Given the description of an element on the screen output the (x, y) to click on. 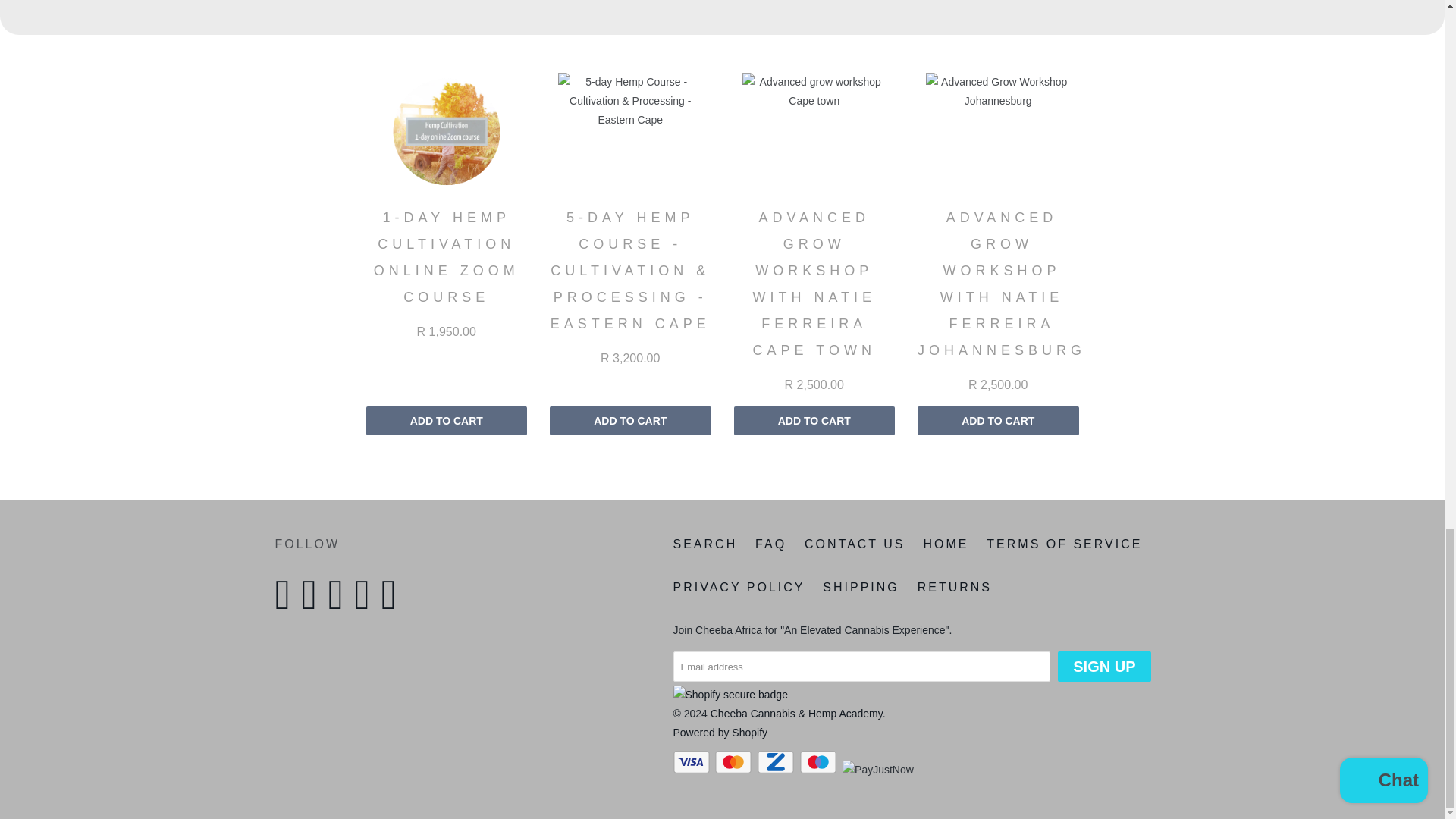
Maestro (819, 762)
Visa (692, 762)
Mastercard (734, 762)
Sign Up (1104, 666)
Zapper (776, 762)
